Given the description of an element on the screen output the (x, y) to click on. 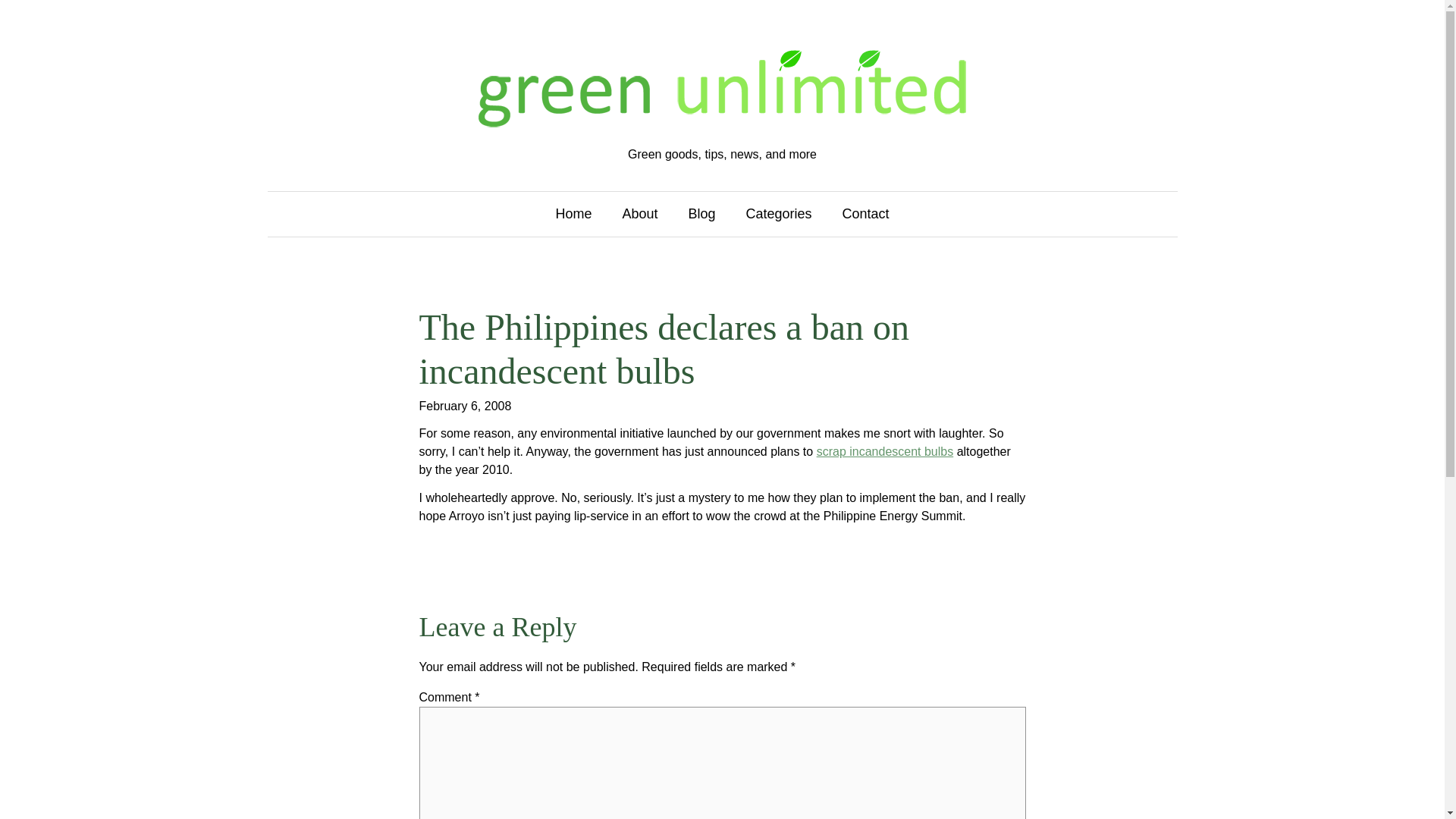
Home (572, 214)
scrap incandescent bulbs (884, 451)
Contact (866, 214)
About (639, 214)
Categories (778, 214)
Blog (700, 214)
